Given the description of an element on the screen output the (x, y) to click on. 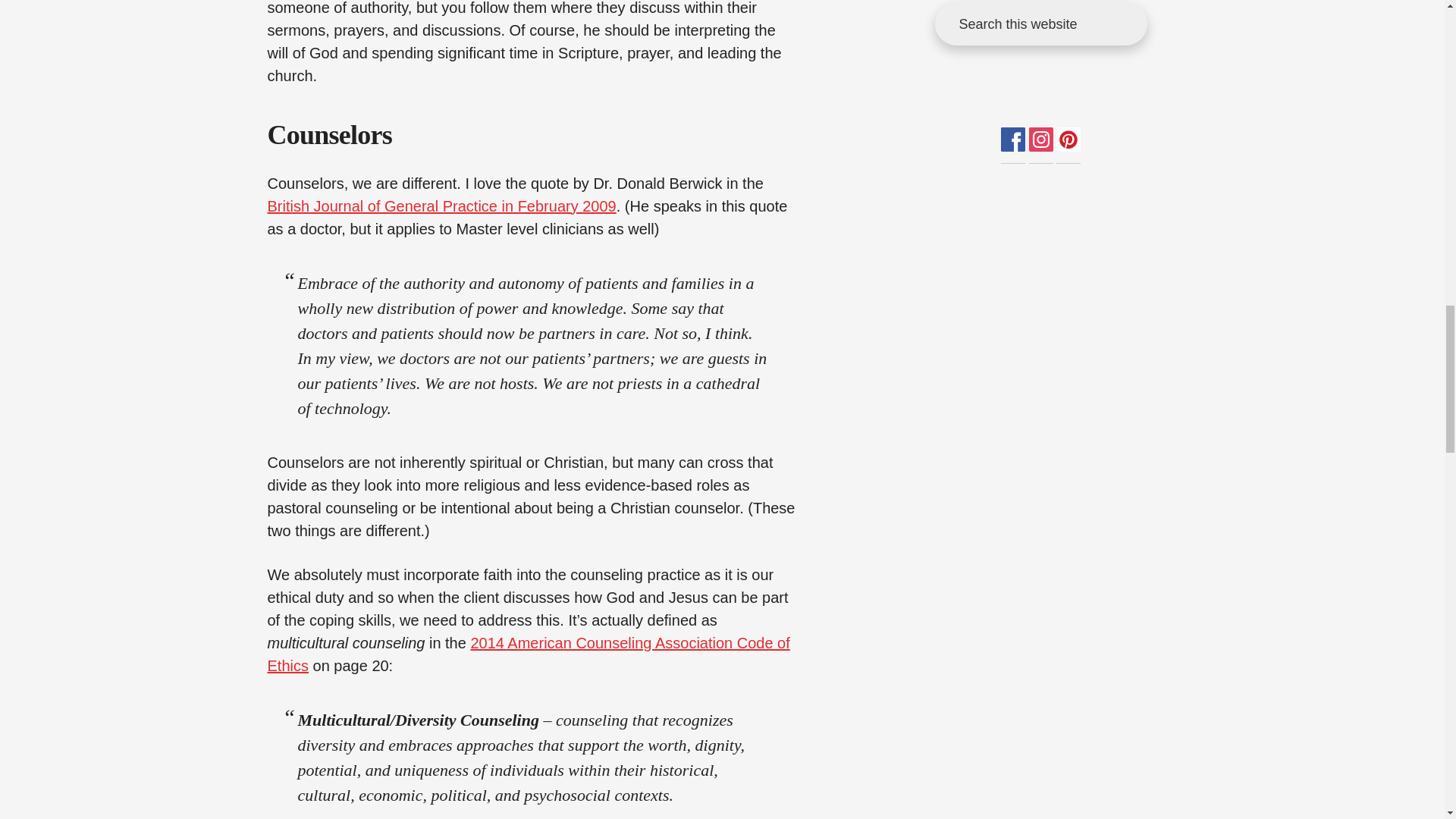
British Journal of General Practice in February 2009 (440, 206)
2014 American Counseling Association Code of Ethics (527, 654)
